Given the description of an element on the screen output the (x, y) to click on. 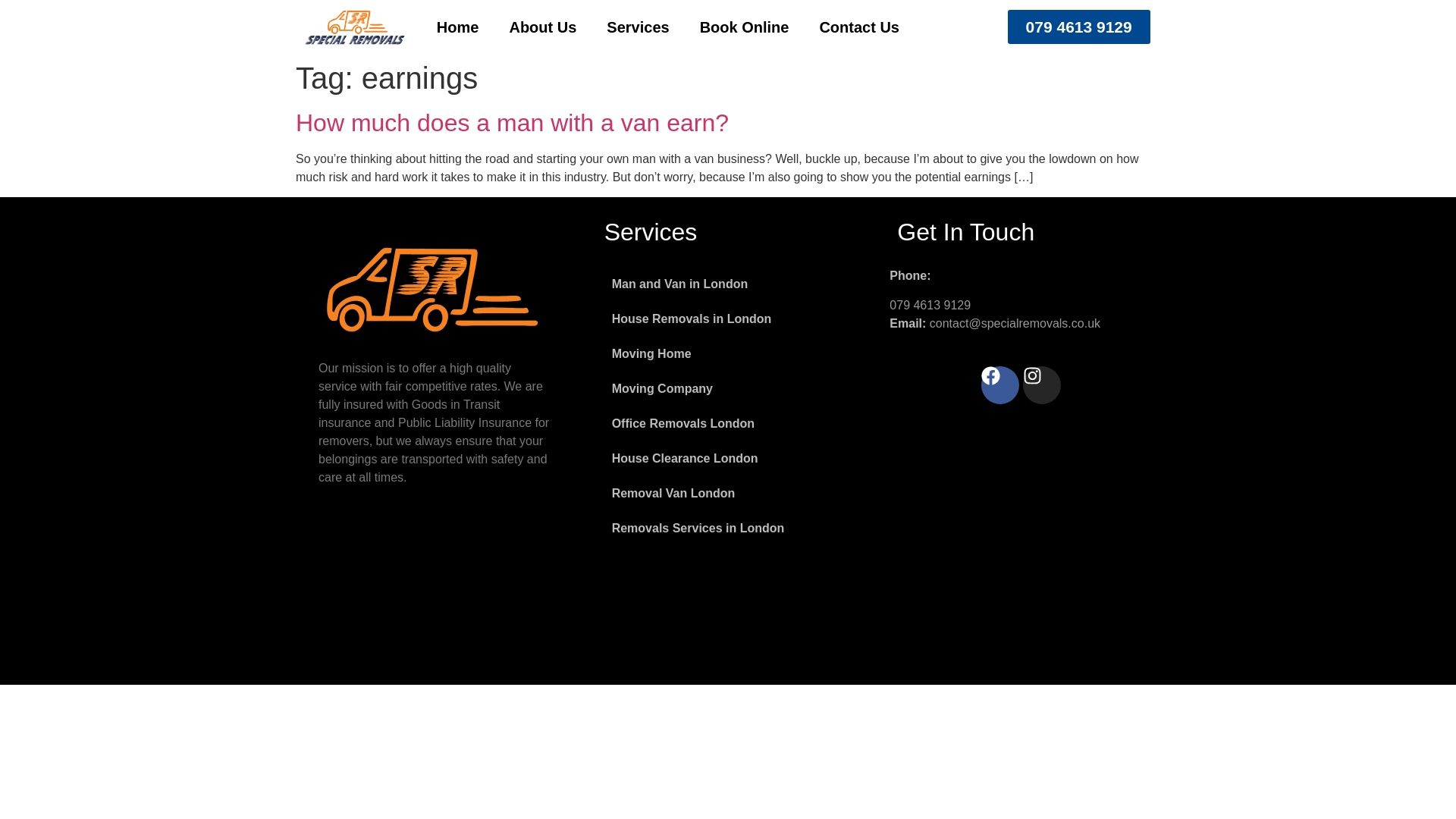
Home (458, 27)
Contact Us (858, 27)
How much does a man with a van earn? (512, 122)
About Us (542, 27)
Office Removals London (728, 423)
Removal Van London (728, 493)
House Clearance London (728, 458)
079 4613 9129 (1078, 26)
Moving Company (728, 388)
